Given the description of an element on the screen output the (x, y) to click on. 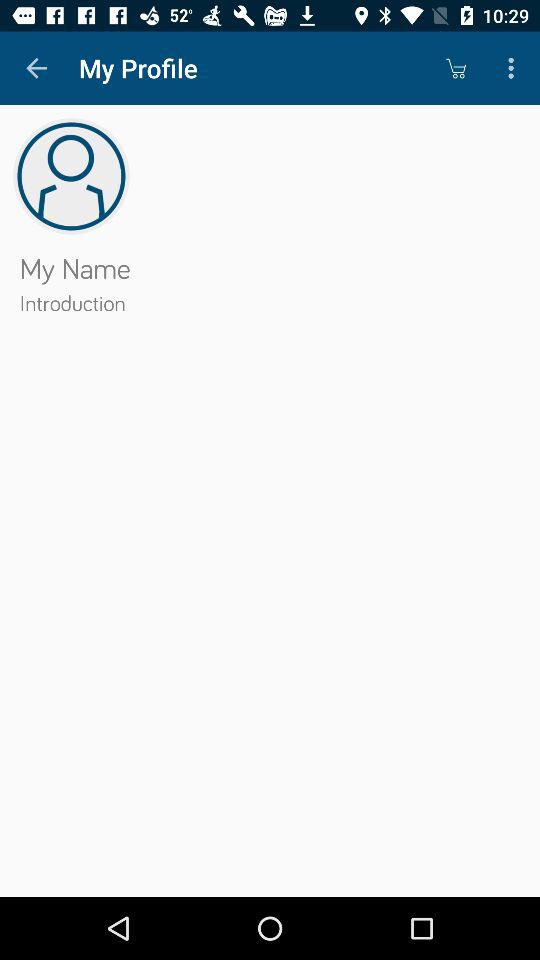
turn off the app next to my profile app (36, 68)
